Given the description of an element on the screen output the (x, y) to click on. 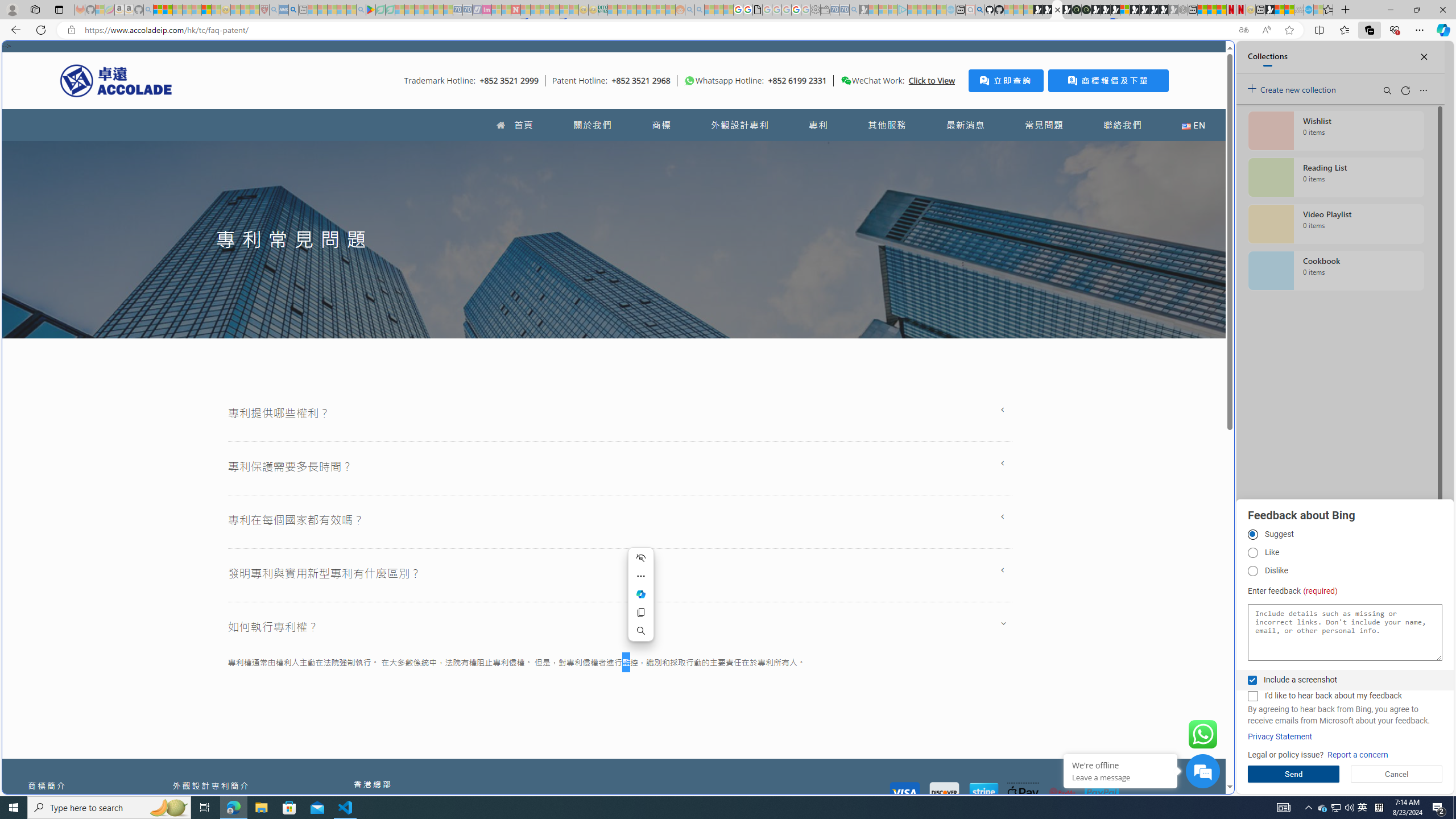
Suggest (1252, 534)
World - MSN (727, 389)
Terms of Use Agreement - Sleeping (380, 9)
Services - Maintenance | Sky Blue Bikes - Sky Blue Bikes (1307, 9)
DITOGAMES AG Imprint (602, 9)
